Given the description of an element on the screen output the (x, y) to click on. 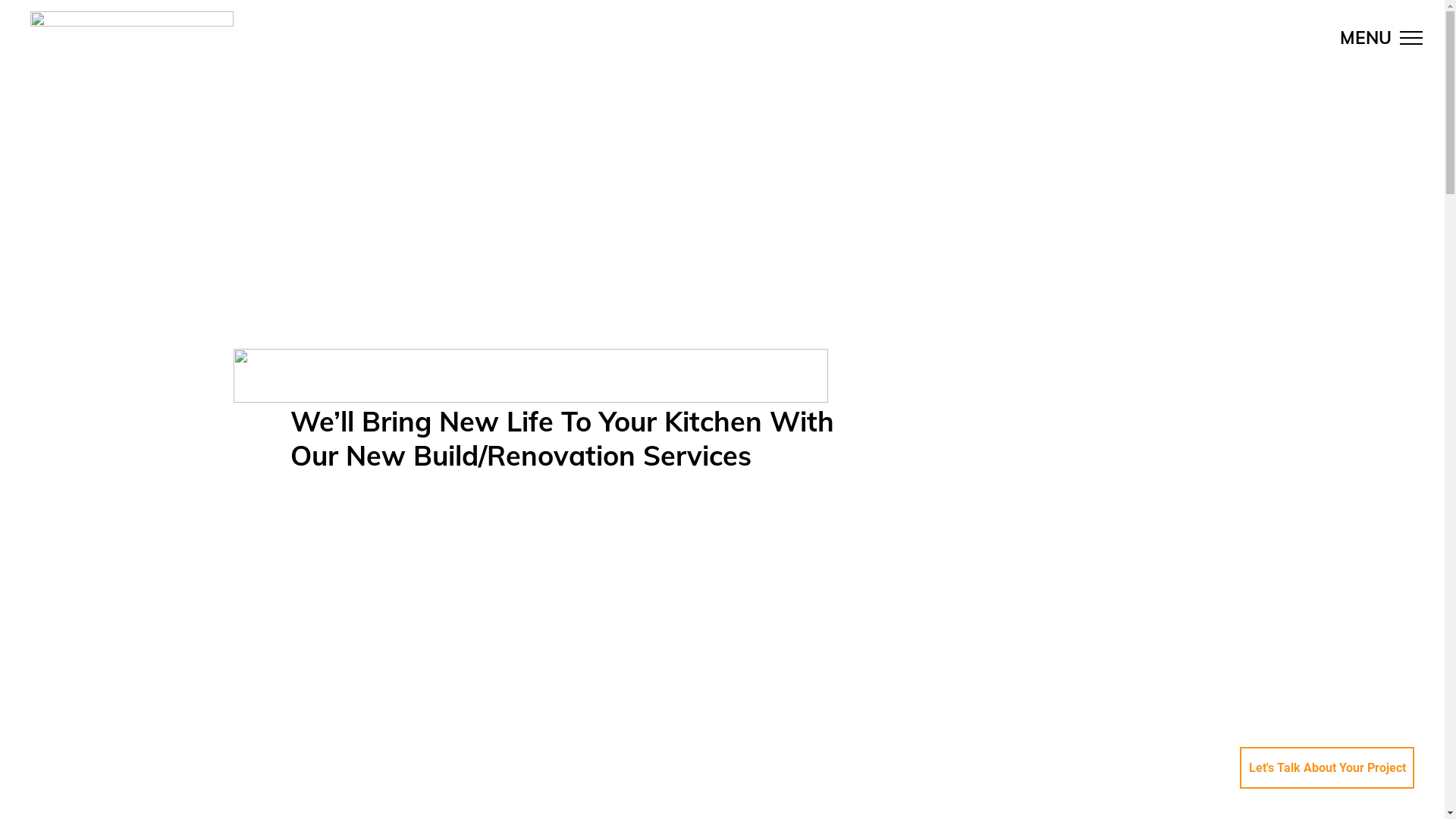
Let's Talk About Your Project Element type: text (1326, 767)
